Given the description of an element on the screen output the (x, y) to click on. 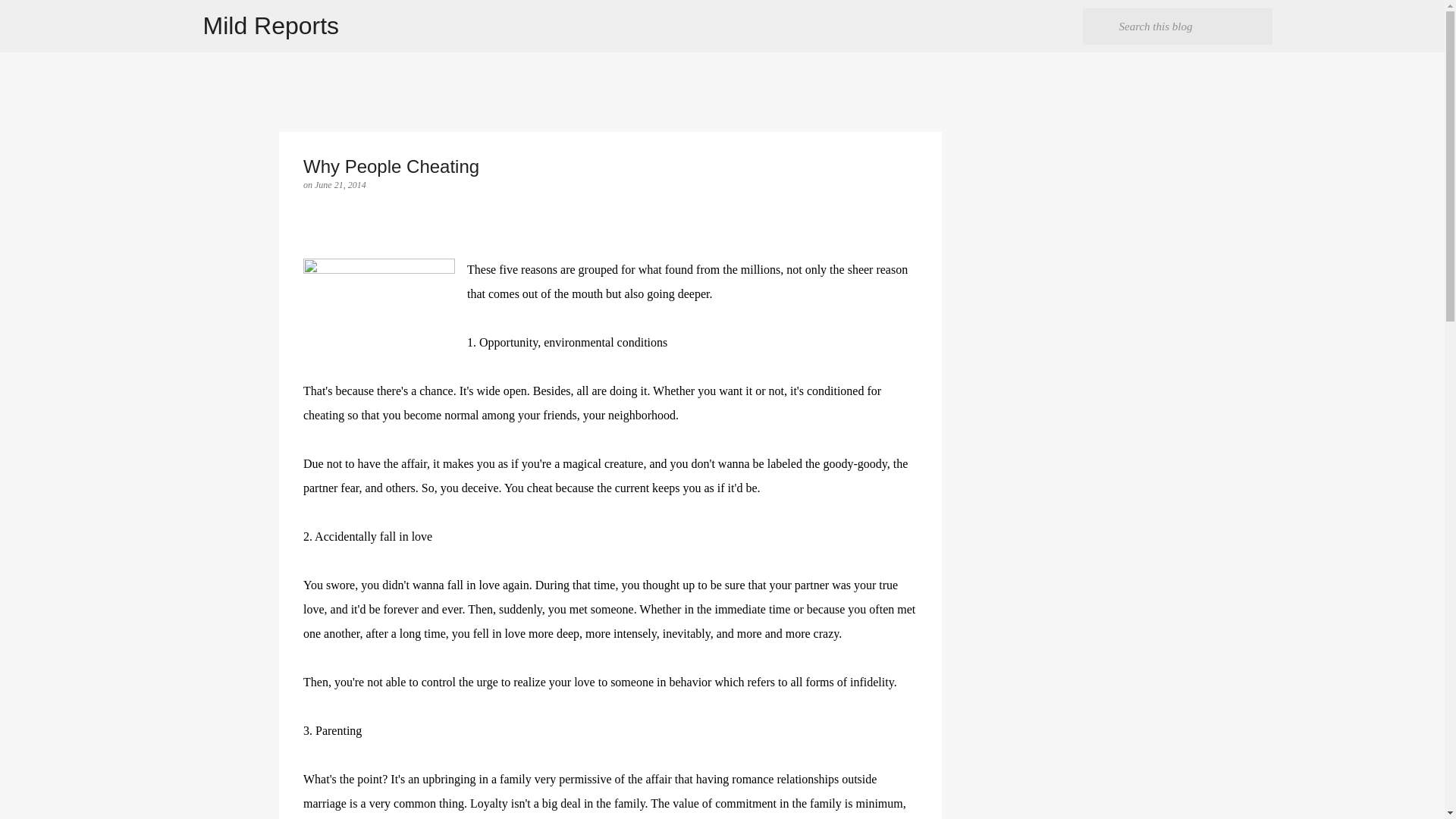
Mild Reports (271, 25)
permanent link (340, 184)
June 21, 2014 (340, 184)
